Given the description of an element on the screen output the (x, y) to click on. 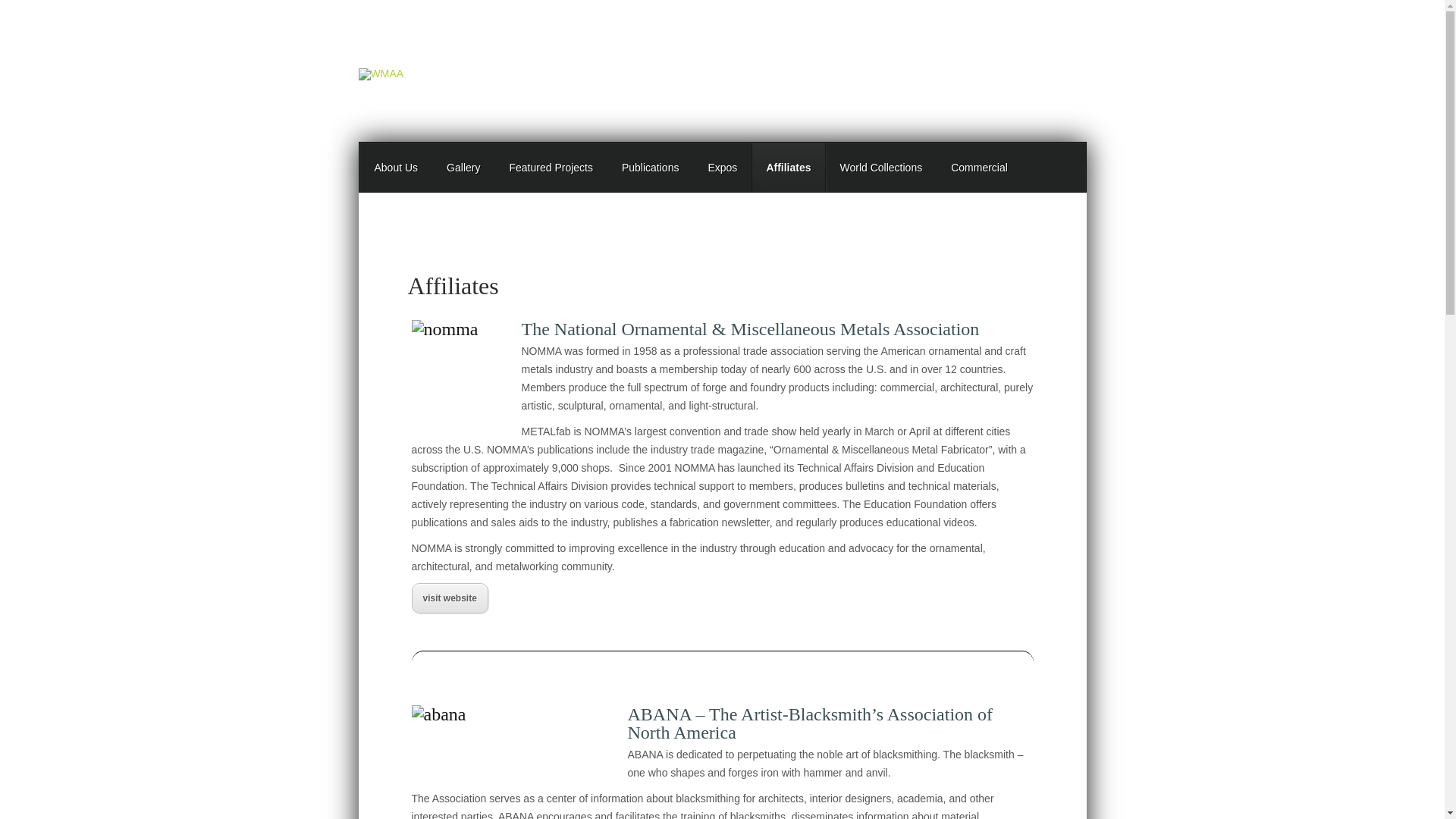
Affiliates (788, 167)
visit website (448, 598)
About Us (395, 167)
Featured Projects (551, 167)
Publications (650, 167)
Commercial (979, 167)
Gallery (463, 167)
Expos (722, 167)
World Collections (880, 167)
